Given the description of an element on the screen output the (x, y) to click on. 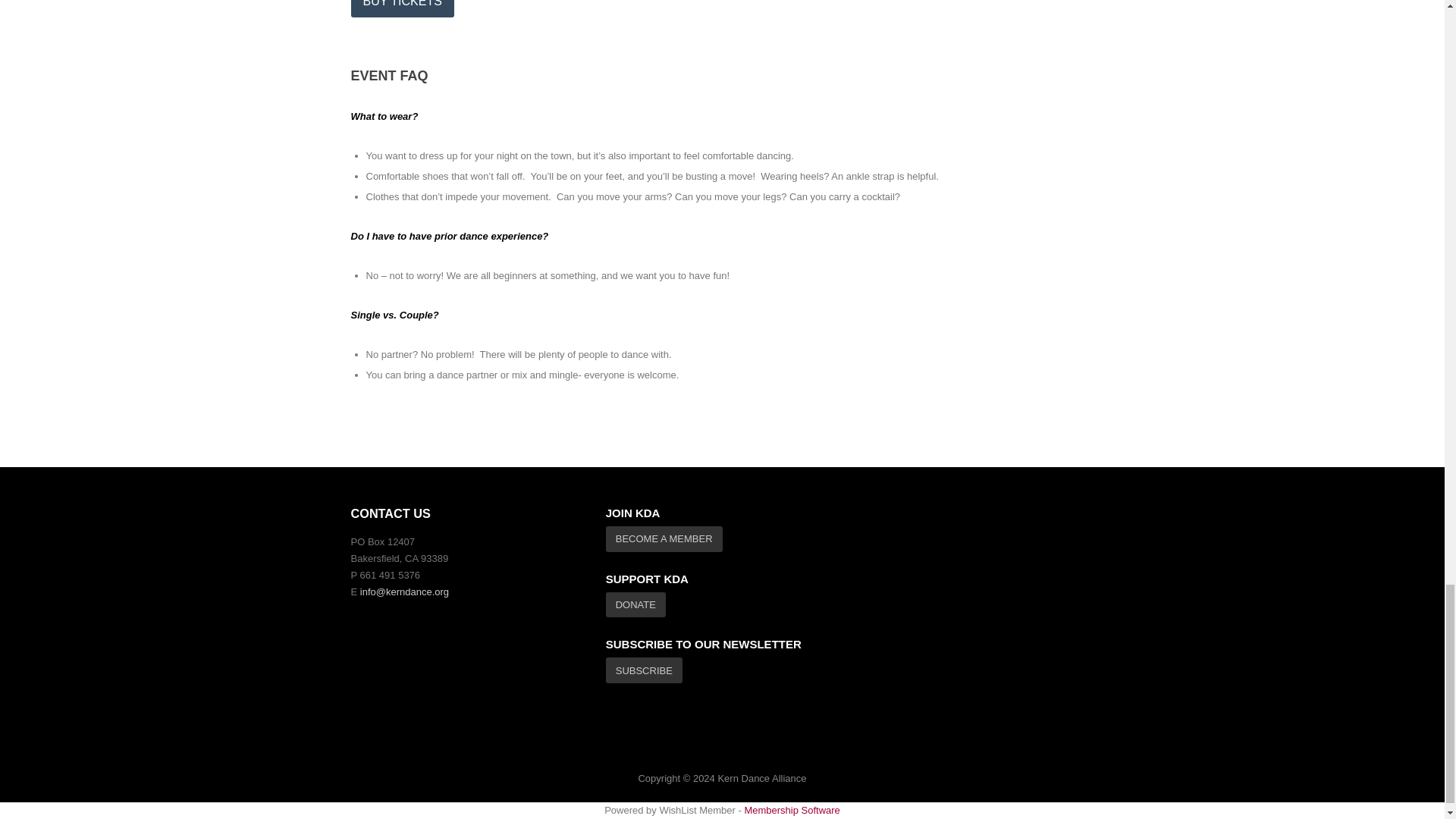
Membership Software (792, 809)
BECOME A MEMBER (663, 539)
Visit Site (643, 670)
Visit Site (401, 8)
BUY TICKETS (401, 8)
Visit Site (635, 605)
Visit Site (663, 539)
Email KDA (403, 591)
DONATE (635, 605)
